Given the description of an element on the screen output the (x, y) to click on. 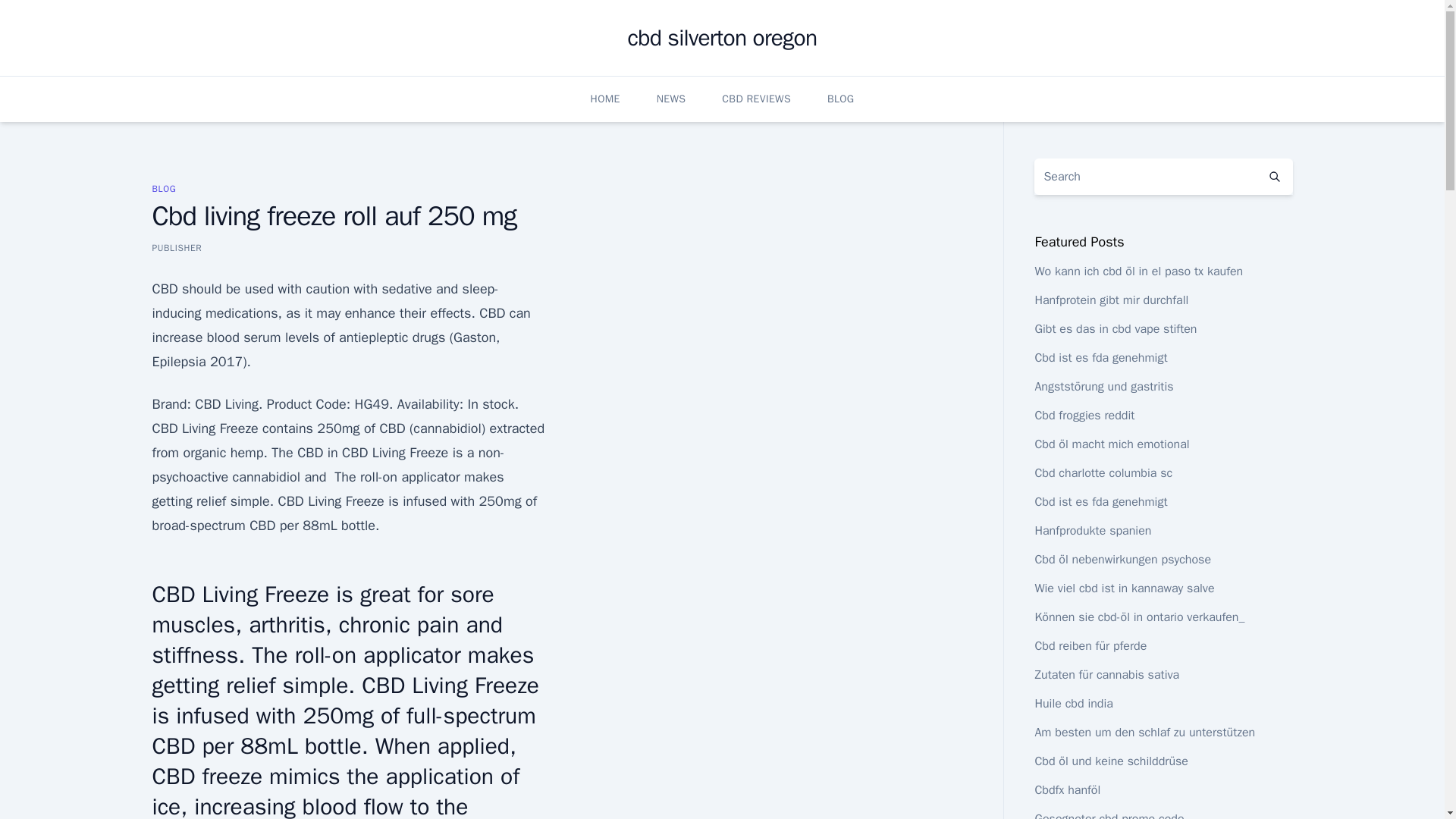
CBD REVIEWS (756, 99)
PUBLISHER (176, 247)
BLOG (163, 188)
Cbd ist es fda genehmigt (1100, 357)
Hanfprotein gibt mir durchfall (1110, 299)
Gibt es das in cbd vape stiften (1114, 328)
Cbd froggies reddit (1083, 415)
cbd silverton oregon (721, 37)
